Given the description of an element on the screen output the (x, y) to click on. 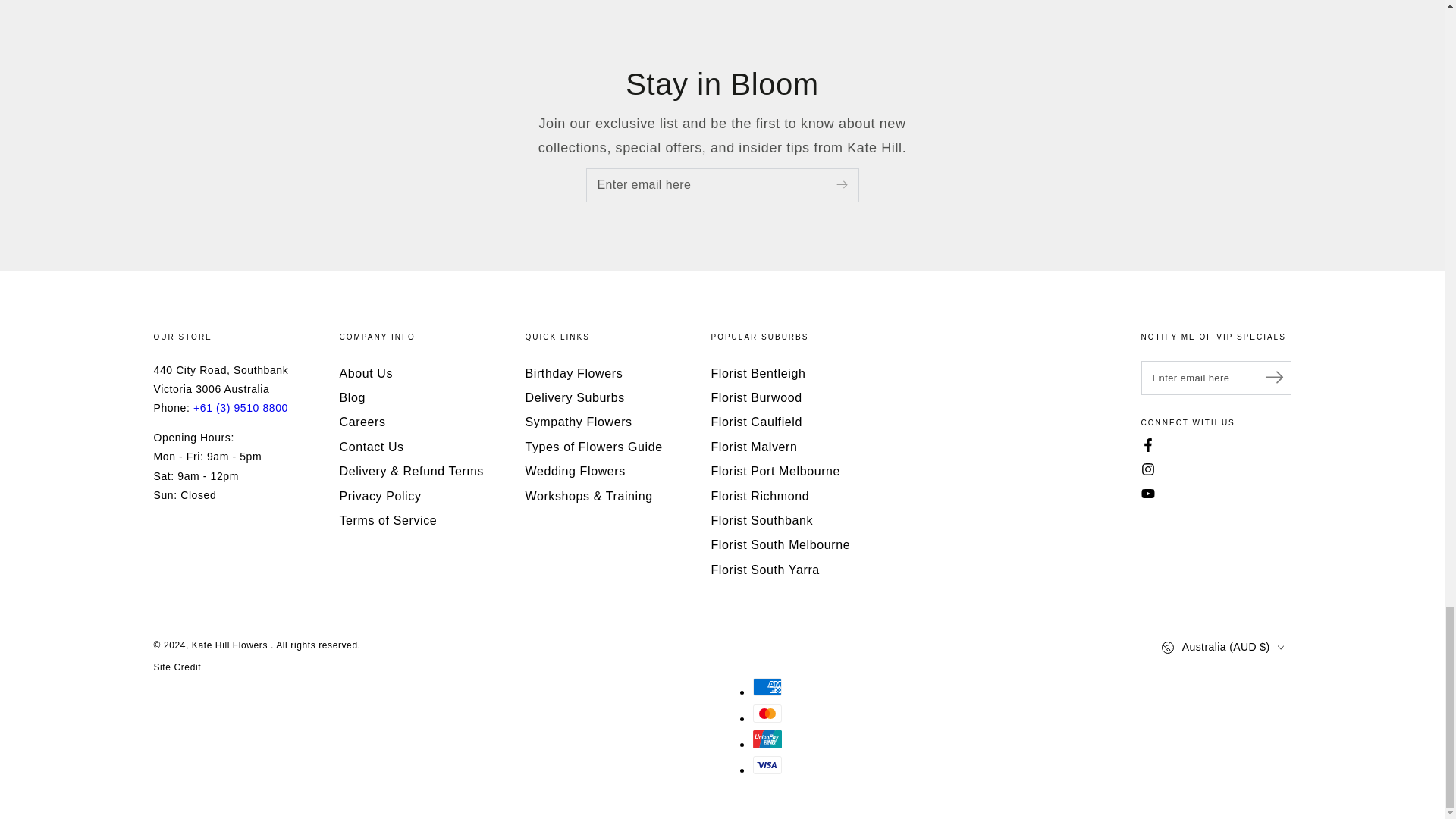
Union Pay (766, 739)
Mastercard (766, 713)
American Express (766, 687)
Visa (766, 764)
